Given the description of an element on the screen output the (x, y) to click on. 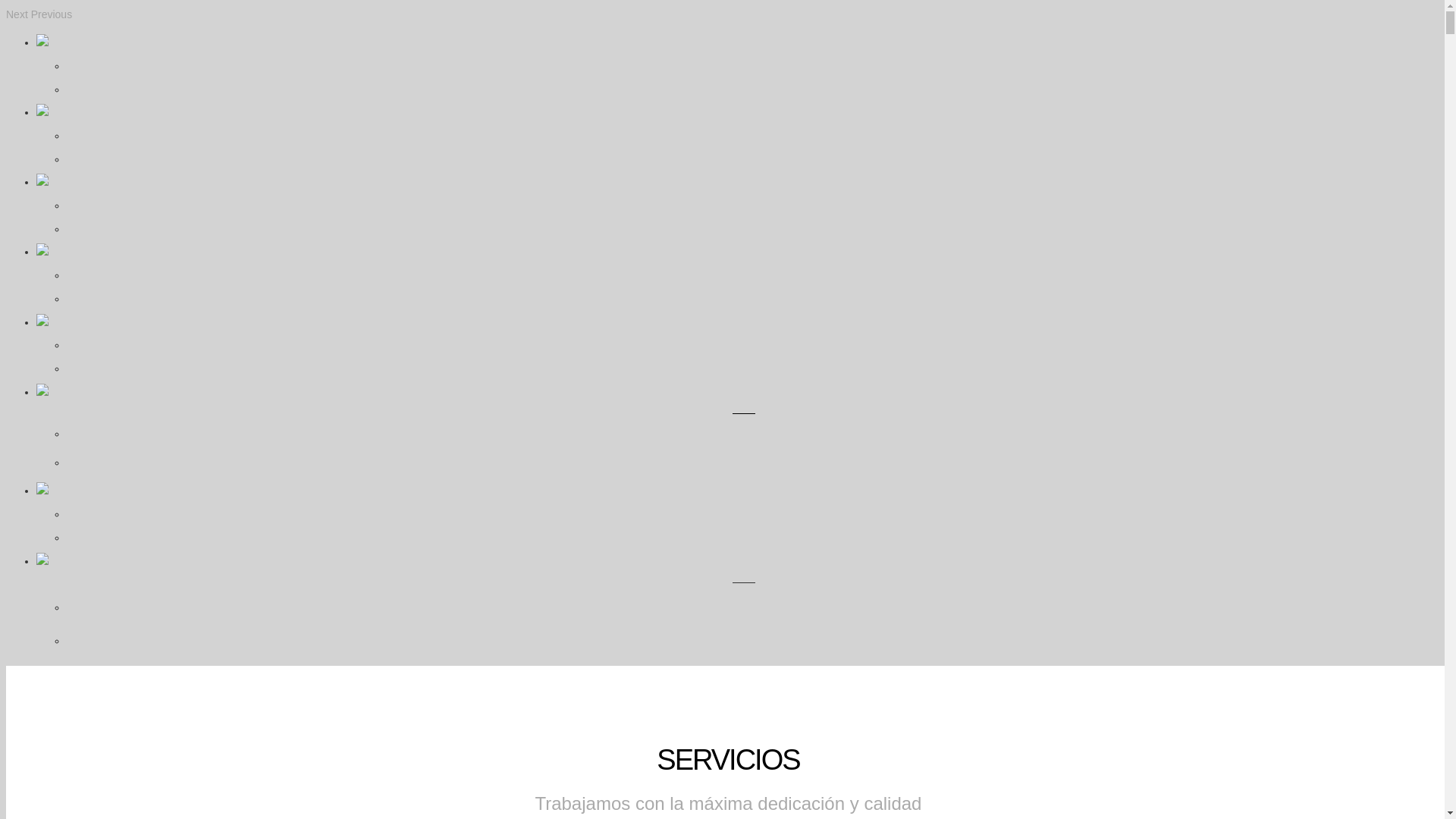
Previous Element type: text (51, 14)
Next Element type: text (17, 14)
